Given the description of an element on the screen output the (x, y) to click on. 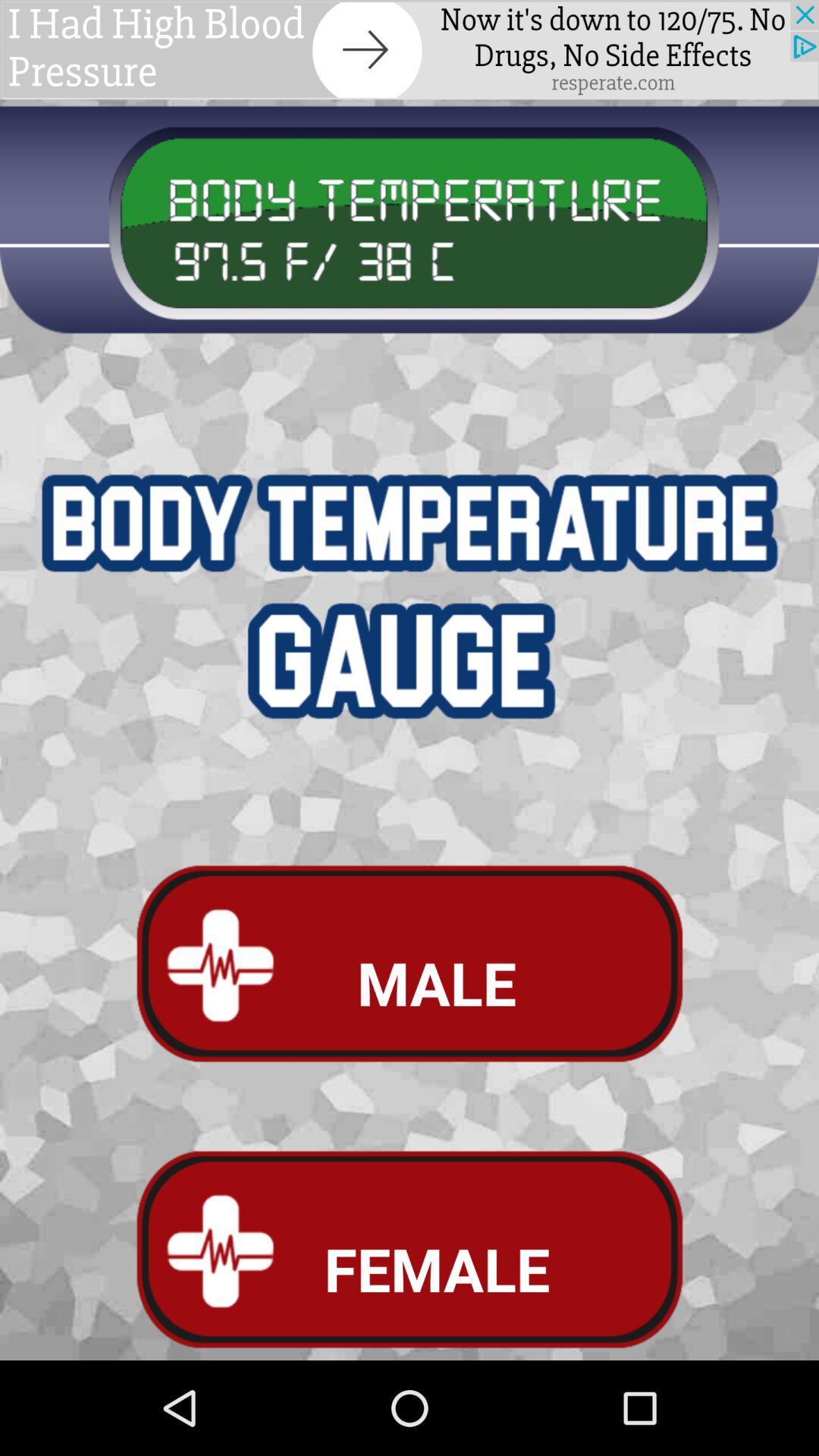
advertisement (409, 49)
